Given the description of an element on the screen output the (x, y) to click on. 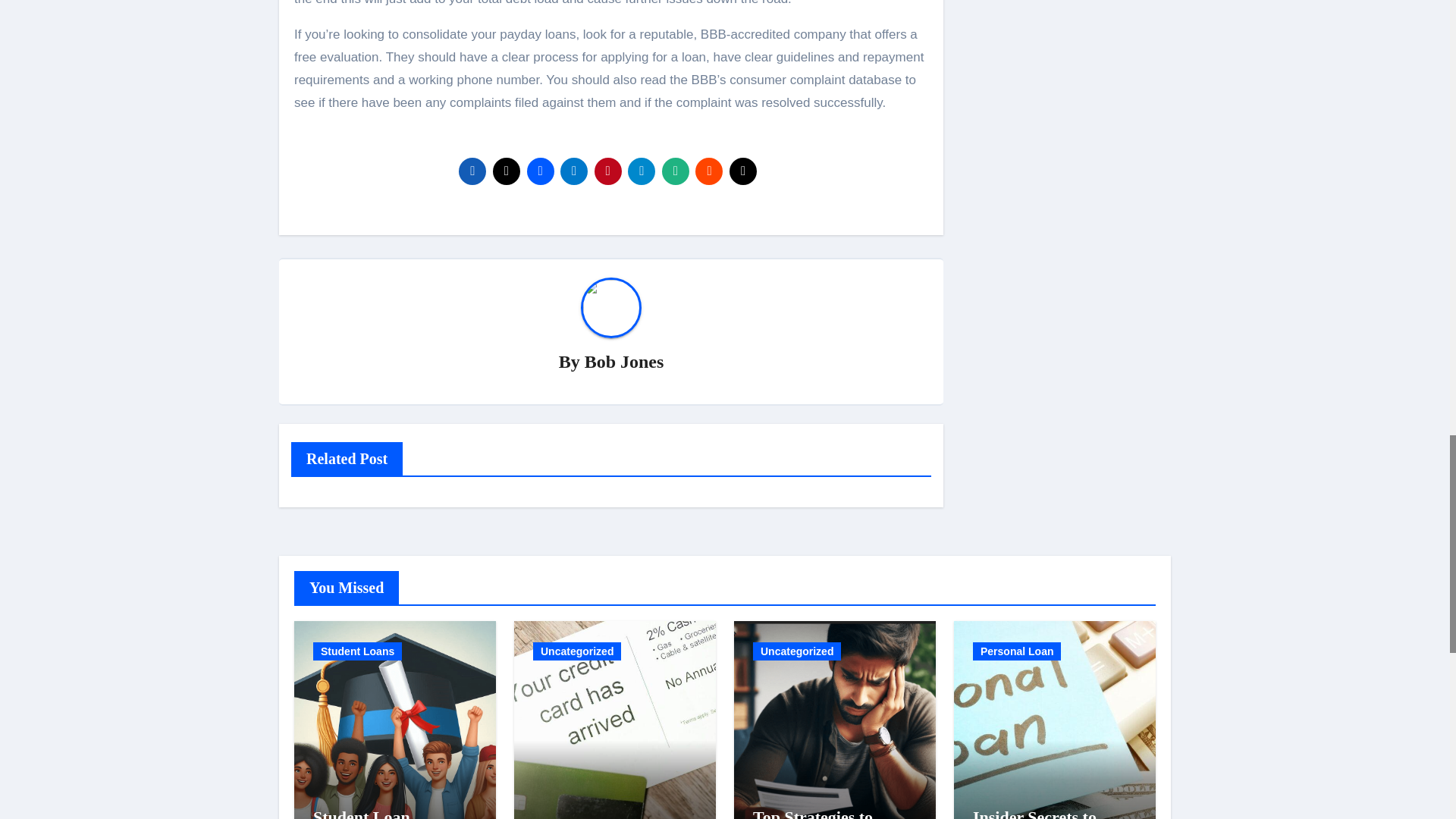
Bob Jones (624, 361)
Permalink to: Top Strategies to Improve Your Credit Score (827, 813)
